Given the description of an element on the screen output the (x, y) to click on. 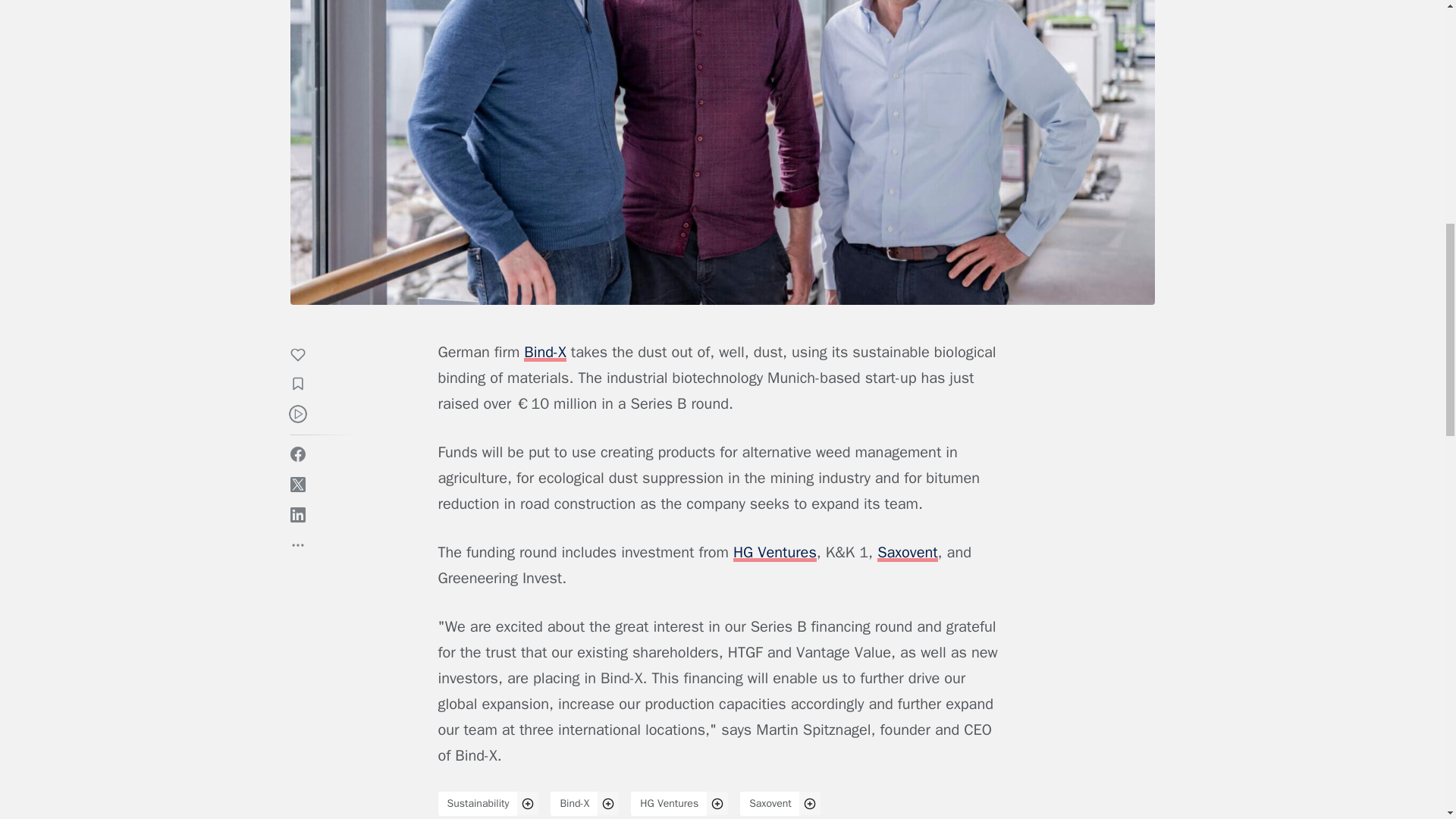
Share on Facebook (296, 453)
Listen this article (296, 413)
HG Ventures (668, 803)
Like (304, 356)
Share on Linkedin (296, 514)
Share on Twitter (296, 484)
Sustainability (478, 803)
Saxovent (769, 803)
Bind-X (574, 803)
Add to collection (304, 385)
